Given the description of an element on the screen output the (x, y) to click on. 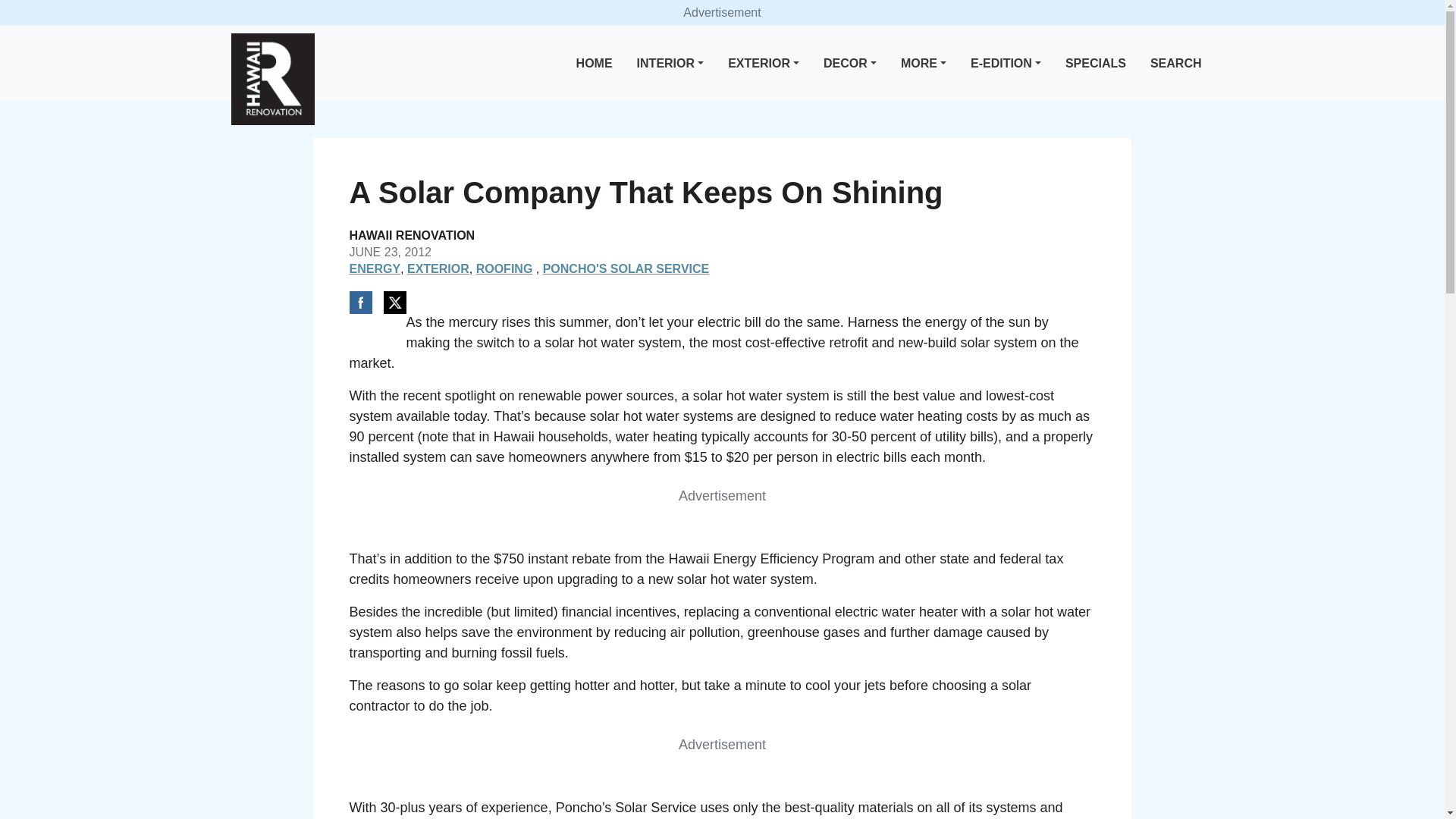
DECOR (849, 63)
EXTERIOR (763, 63)
E-EDITION (1004, 63)
Hawaii Renovation (272, 79)
INTERIOR (670, 63)
ROOFING (504, 268)
SPECIALS (1095, 63)
EXTERIOR (437, 268)
Facebook (360, 302)
HOME (594, 63)
